Given the description of an element on the screen output the (x, y) to click on. 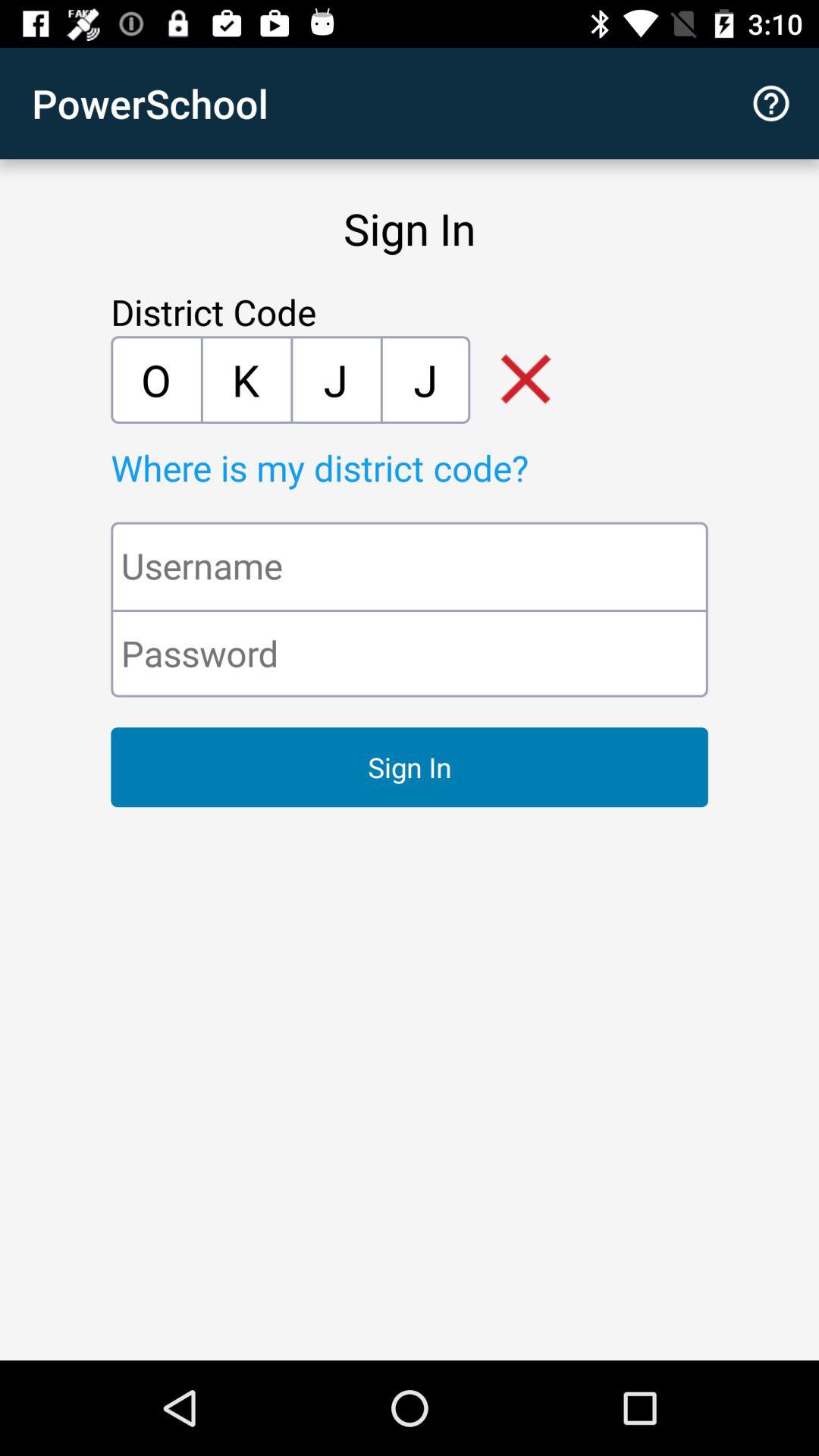
open icon below district code (245, 379)
